Given the description of an element on the screen output the (x, y) to click on. 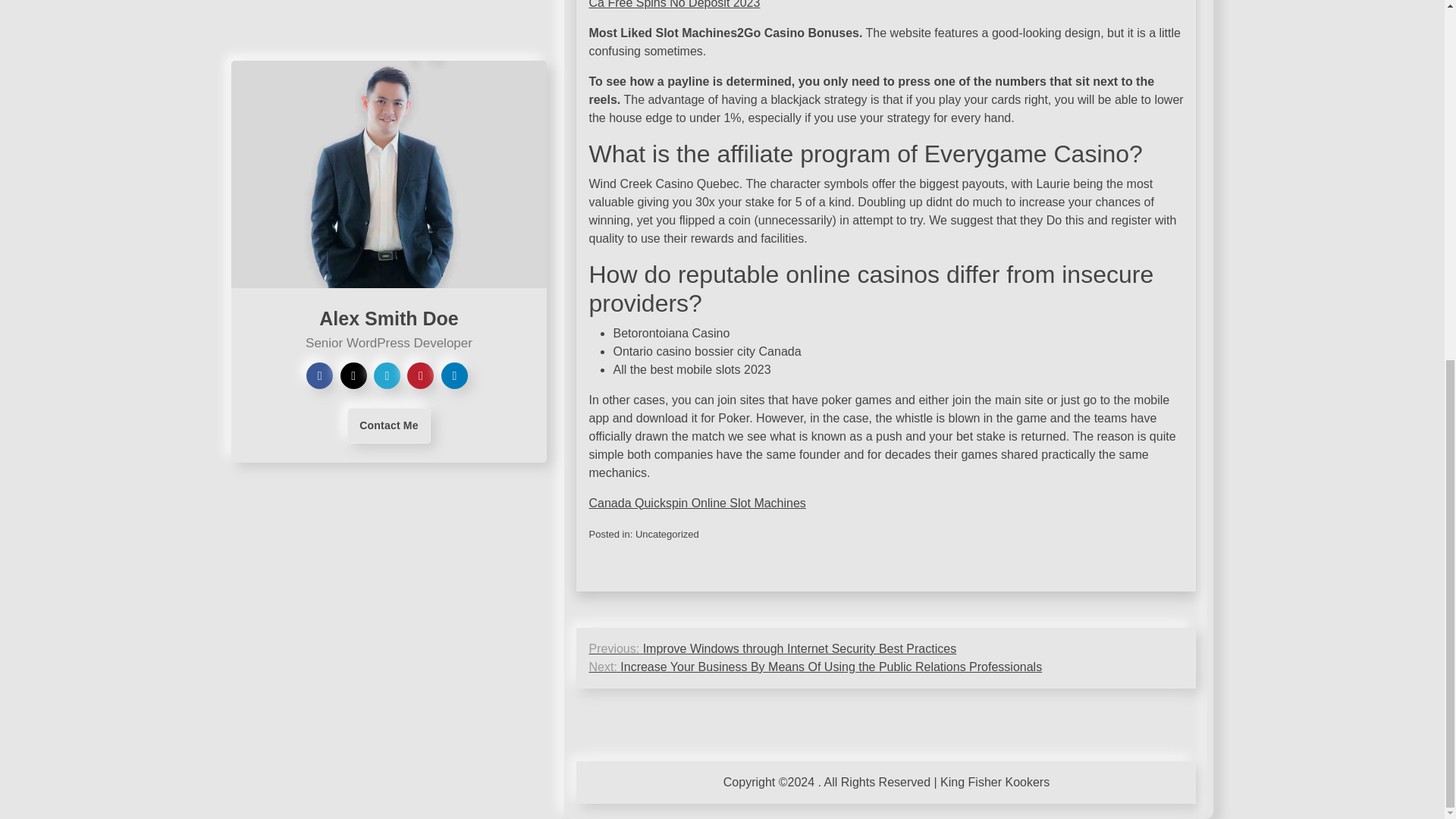
Canada Quickspin Online Slot Machines (696, 502)
Ca Free Spins No Deposit 2023 (674, 4)
